Given the description of an element on the screen output the (x, y) to click on. 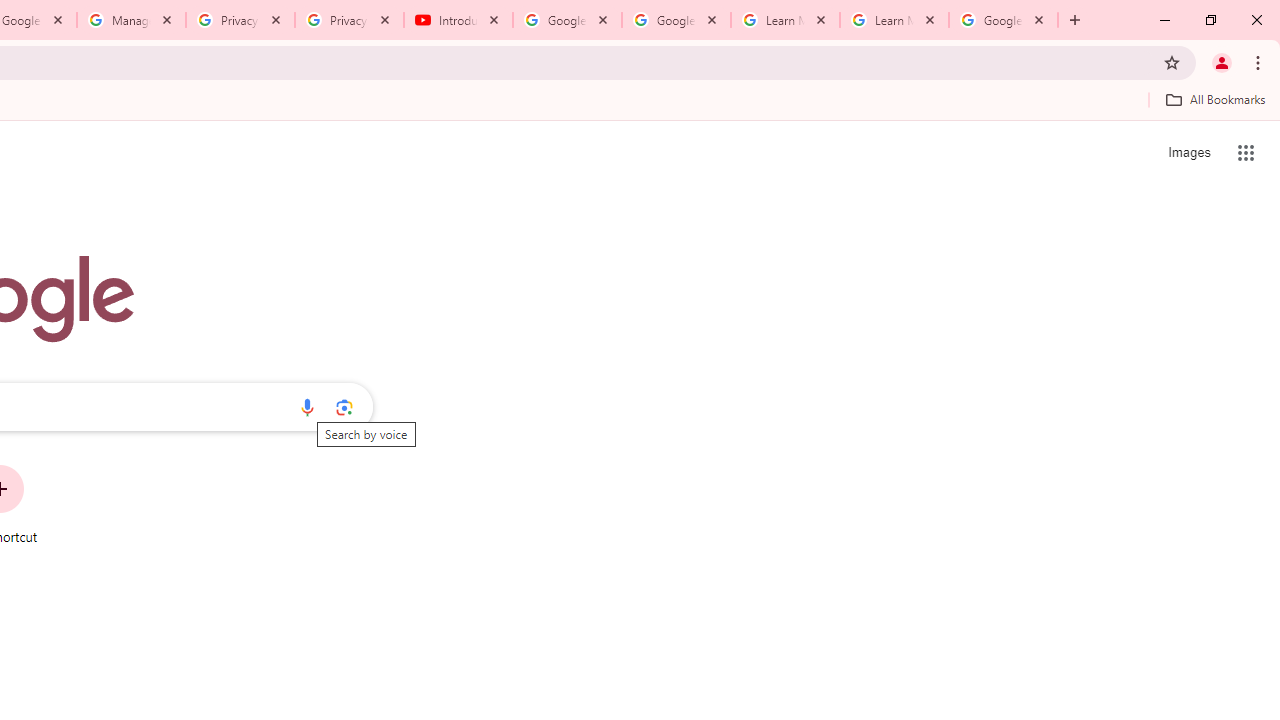
Google Account (1003, 20)
